Given the description of an element on the screen output the (x, y) to click on. 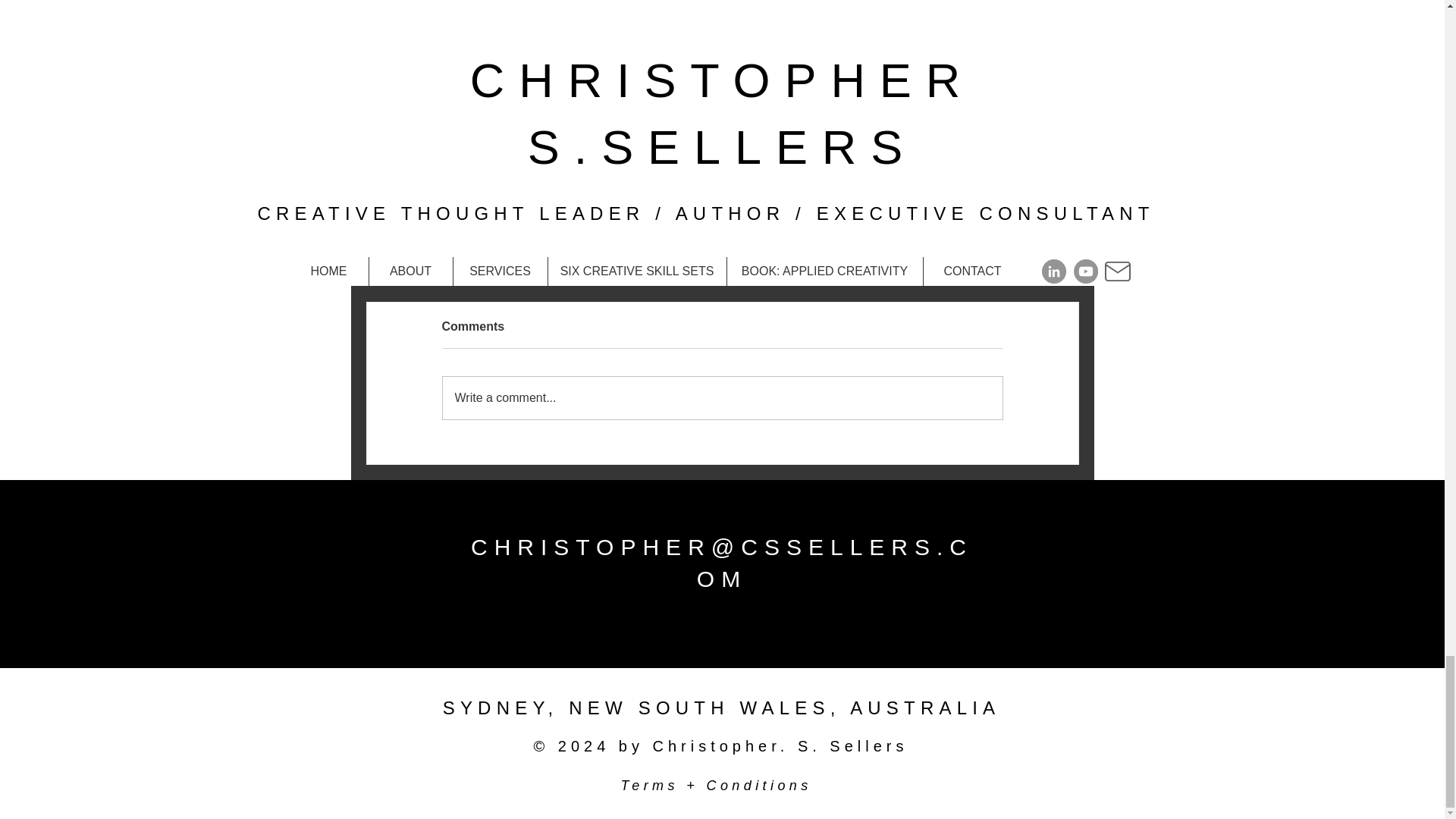
Write a comment... (722, 397)
Failed Actor to Fintech Founder. (476, 229)
See All (1061, 45)
